Given the description of an element on the screen output the (x, y) to click on. 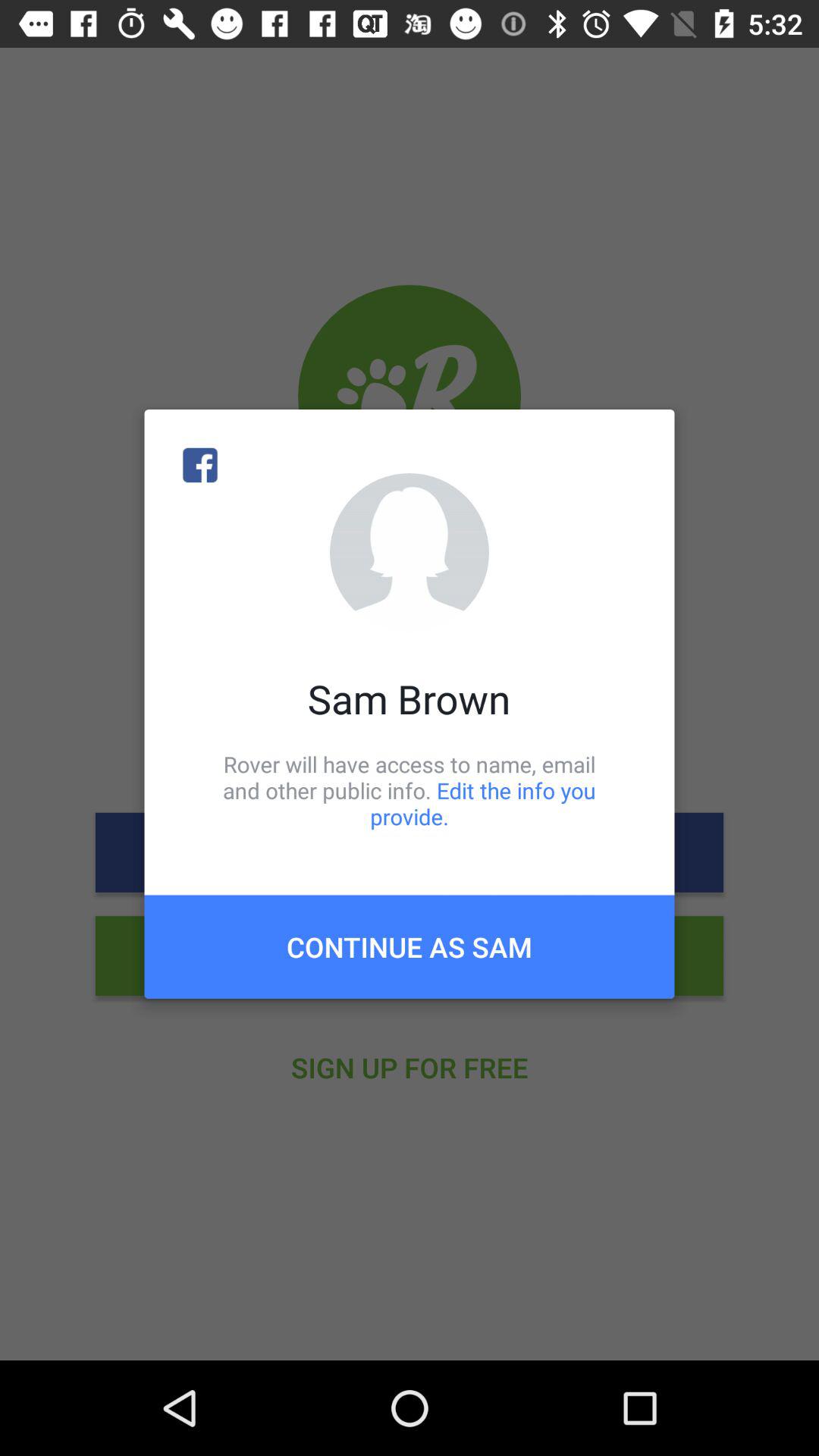
choose item below sam brown icon (409, 790)
